Given the description of an element on the screen output the (x, y) to click on. 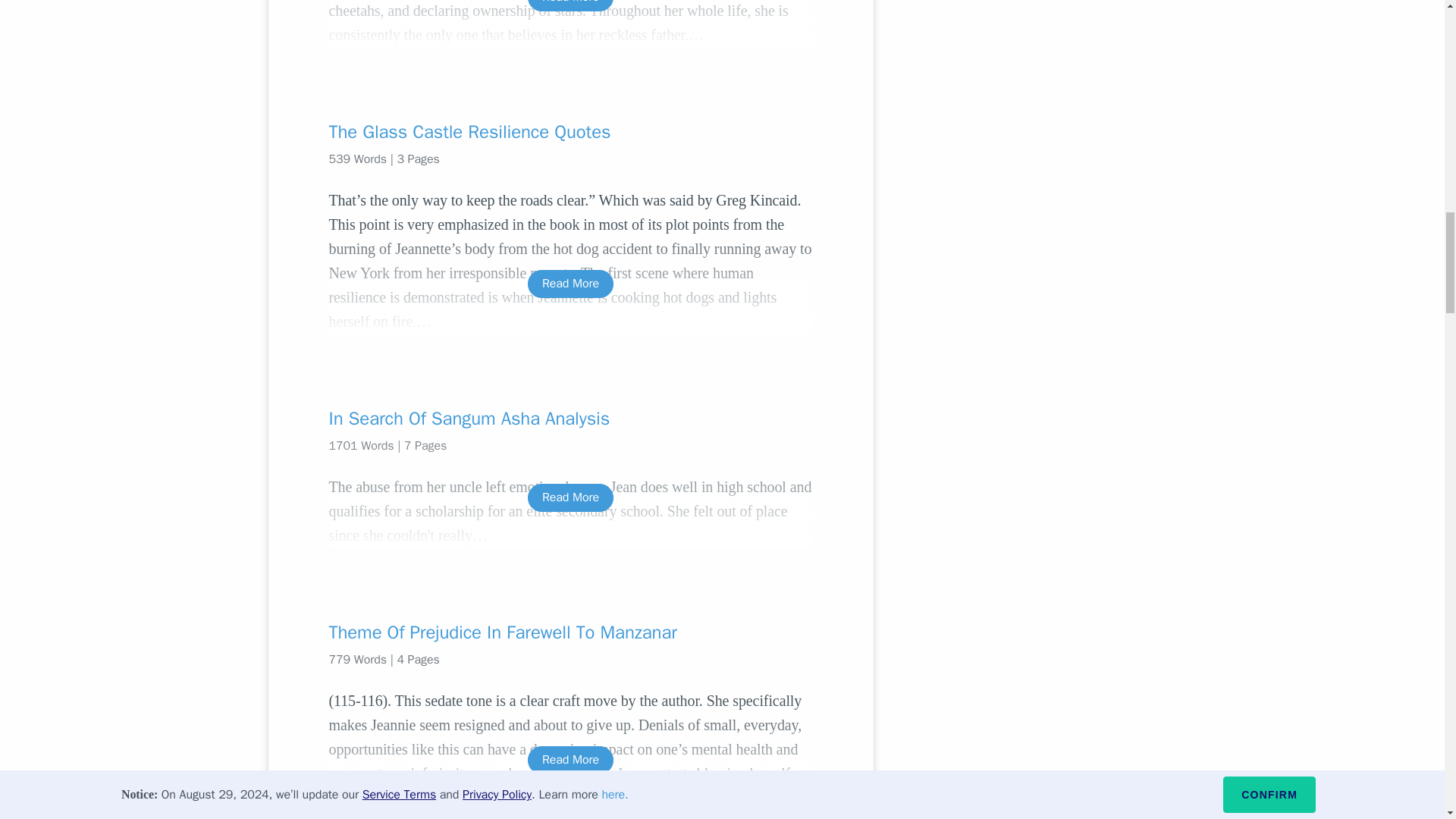
Read More (569, 5)
Read More (569, 497)
In Search Of Sangum Asha Analysis (570, 418)
Read More (569, 759)
The Glass Castle Resilience Quotes (570, 131)
Theme Of Prejudice In Farewell To Manzanar (570, 631)
Read More (569, 284)
